Given the description of an element on the screen output the (x, y) to click on. 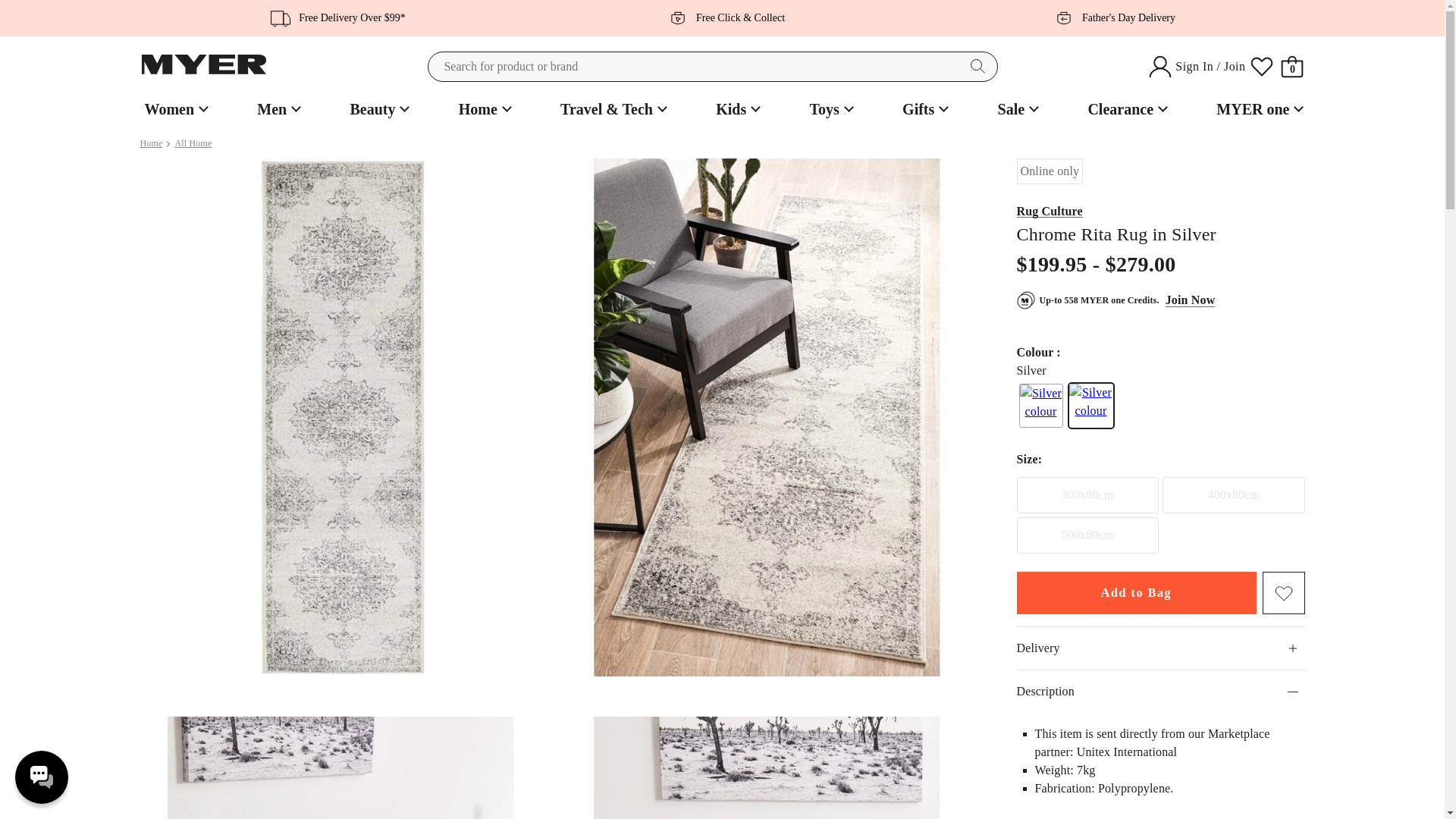
0 (1291, 66)
Women (174, 109)
Click here to toggle the virtual assistant (41, 777)
Father's Day Delivery (1110, 17)
